Given the description of an element on the screen output the (x, y) to click on. 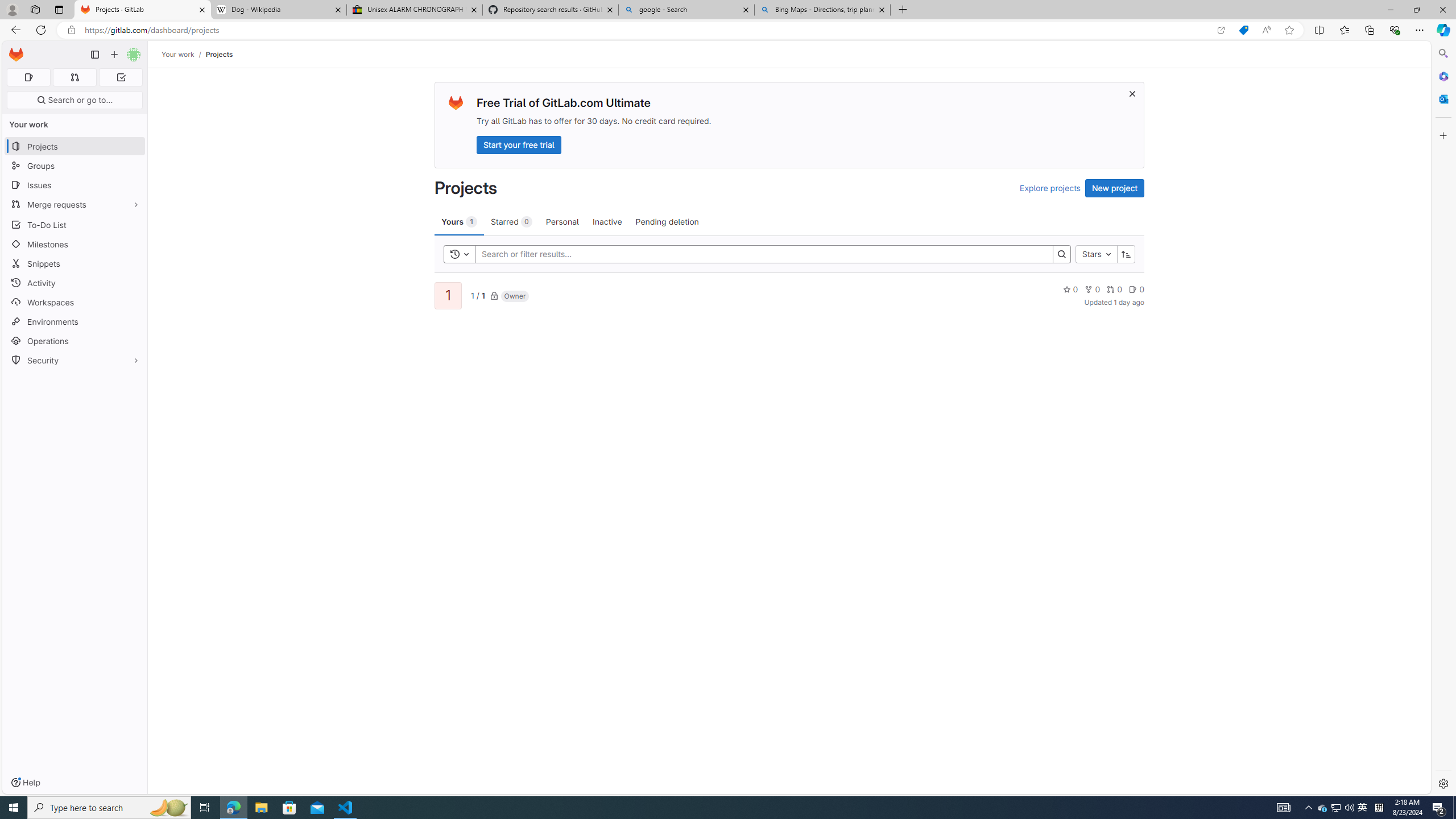
Create new... (113, 54)
Merge requests 0 (74, 76)
Activity (74, 282)
To-Do List (74, 224)
Assigned issues 0 (28, 76)
Start your free trial (519, 144)
Milestones (74, 244)
Environments (74, 321)
Inactive (606, 221)
Class: s16 (494, 295)
